Given the description of an element on the screen output the (x, y) to click on. 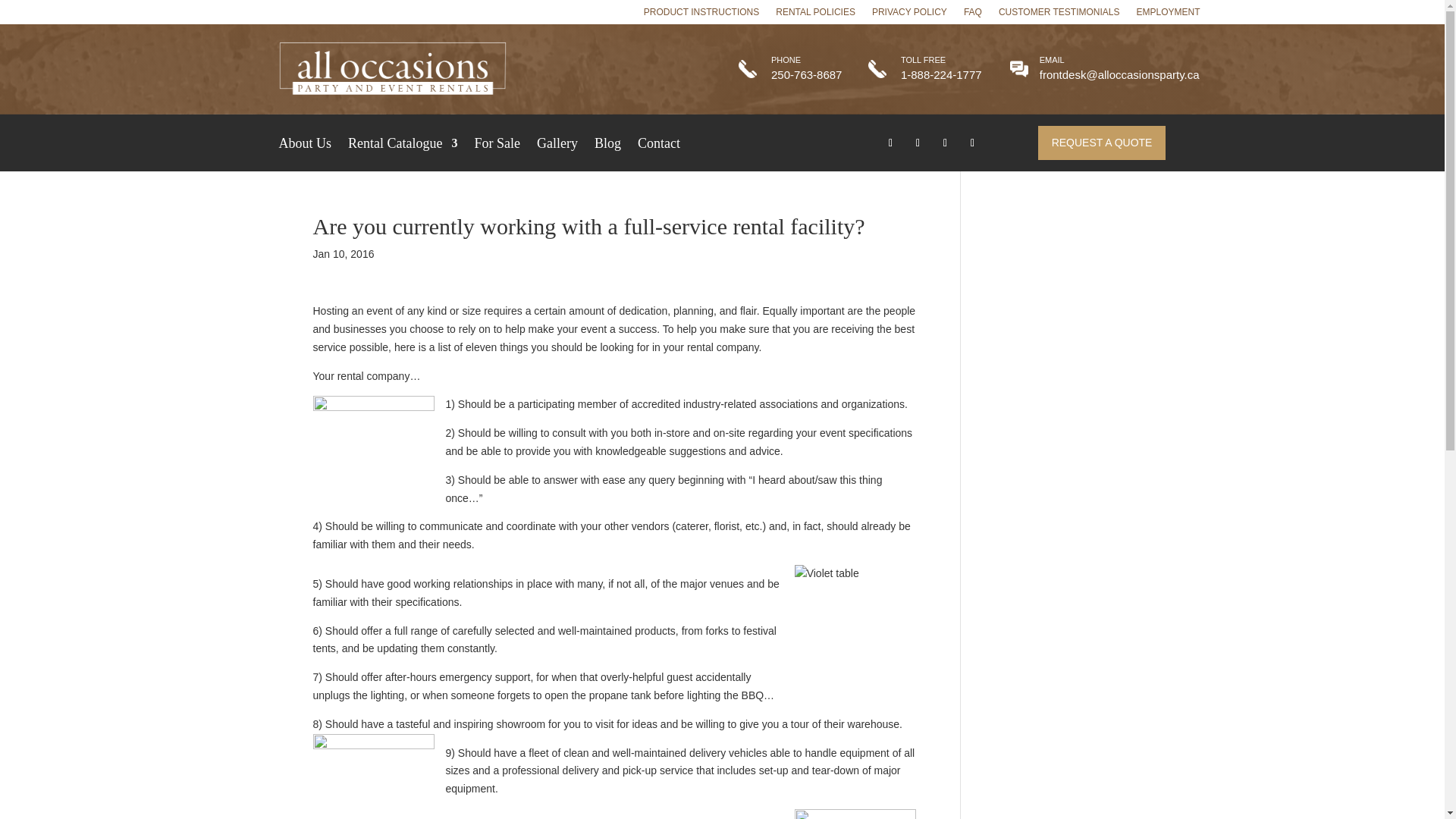
logowhite (392, 69)
RENTAL POLICIES (816, 14)
Rental Catalogue (402, 146)
Follow on Instagram (971, 142)
Follow on Pinterest (944, 142)
CUSTOMER TESTIMONIALS (1058, 14)
PRODUCT INSTRUCTIONS (700, 14)
PRIVACY POLICY (909, 14)
About Us (305, 146)
EMAIL (1051, 59)
